Given the description of an element on the screen output the (x, y) to click on. 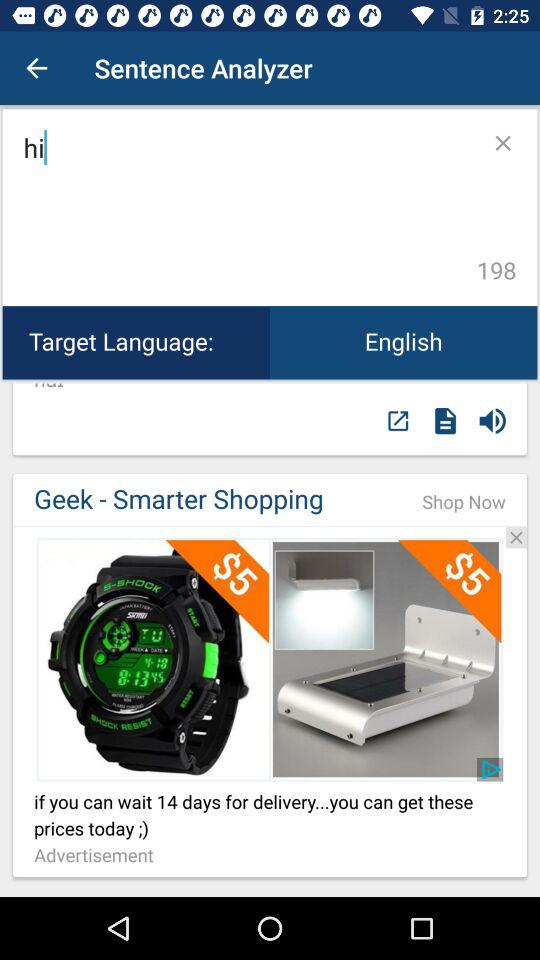
open the icon to the right of the geek - smarter shopping (463, 502)
